Given the description of an element on the screen output the (x, y) to click on. 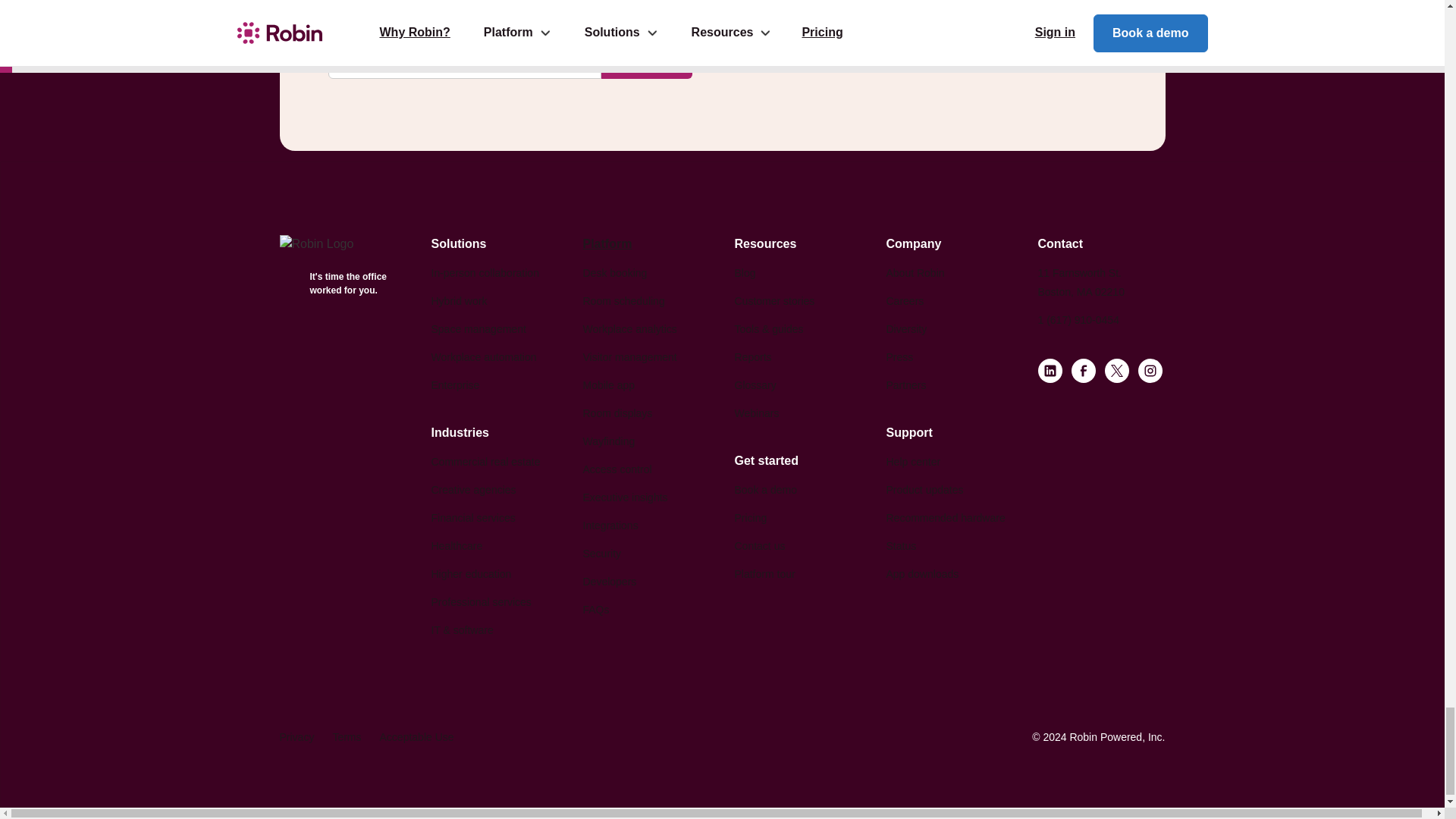
Subscribe (646, 61)
